Given the description of an element on the screen output the (x, y) to click on. 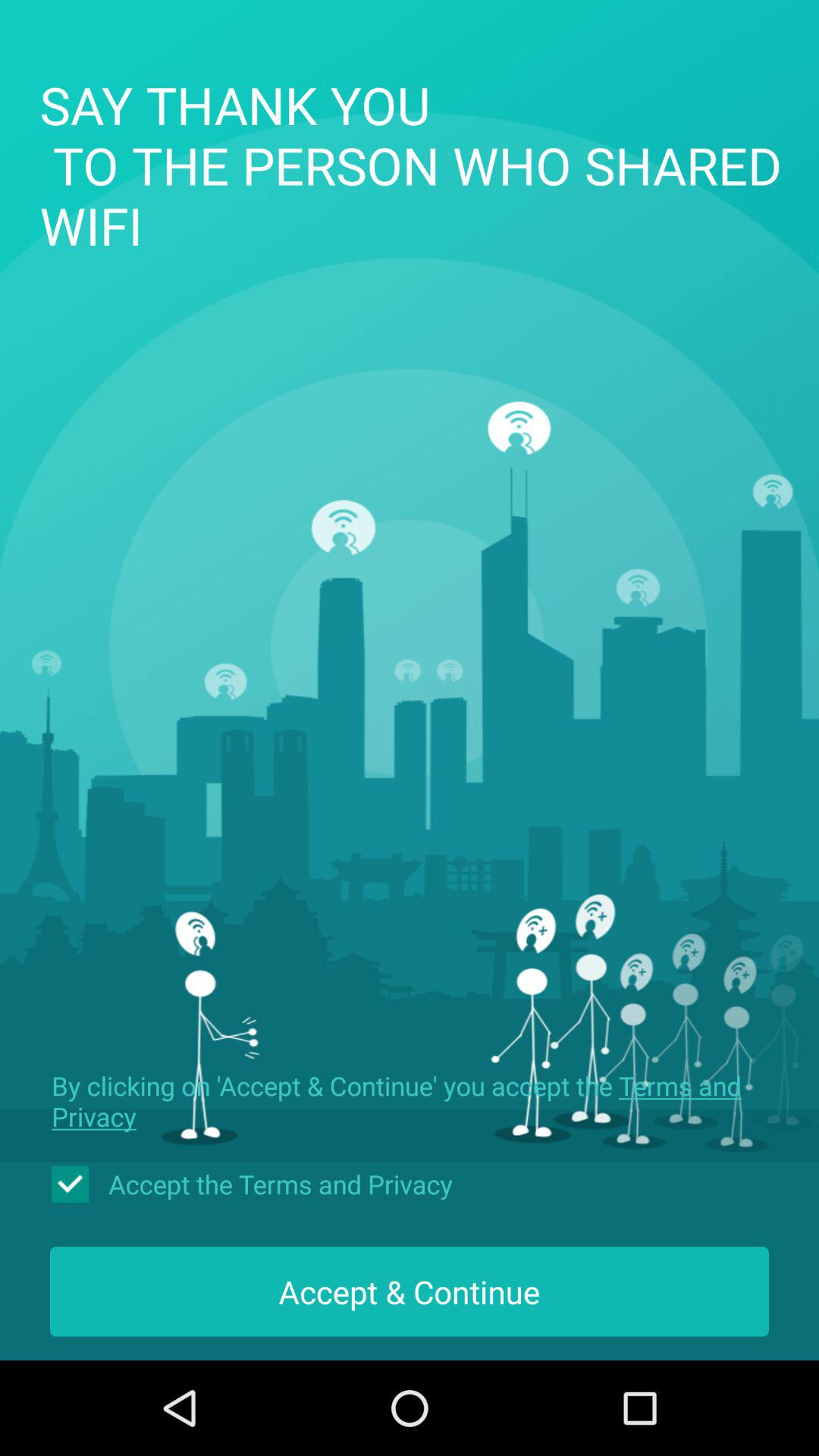
jump until the by clicking on icon (409, 1101)
